Given the description of an element on the screen output the (x, y) to click on. 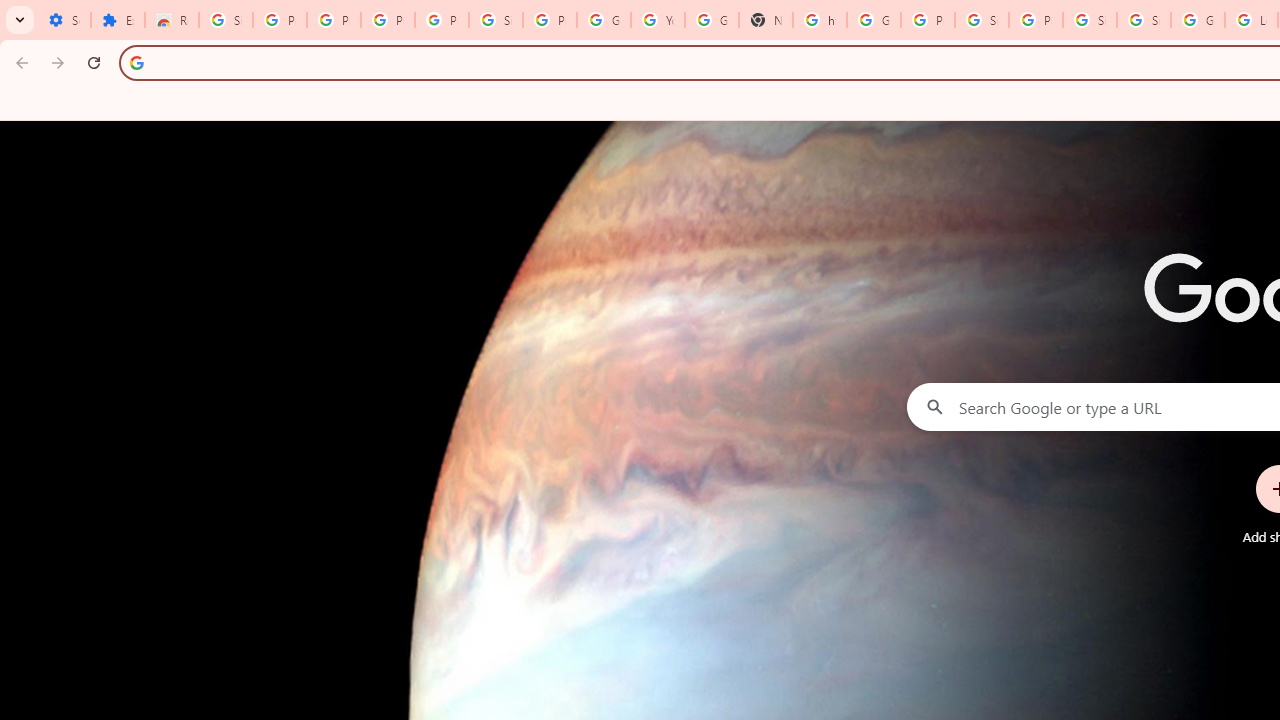
Google Account (604, 20)
Settings - On startup (63, 20)
Sign in - Google Accounts (495, 20)
https://scholar.google.com/ (819, 20)
